Given the description of an element on the screen output the (x, y) to click on. 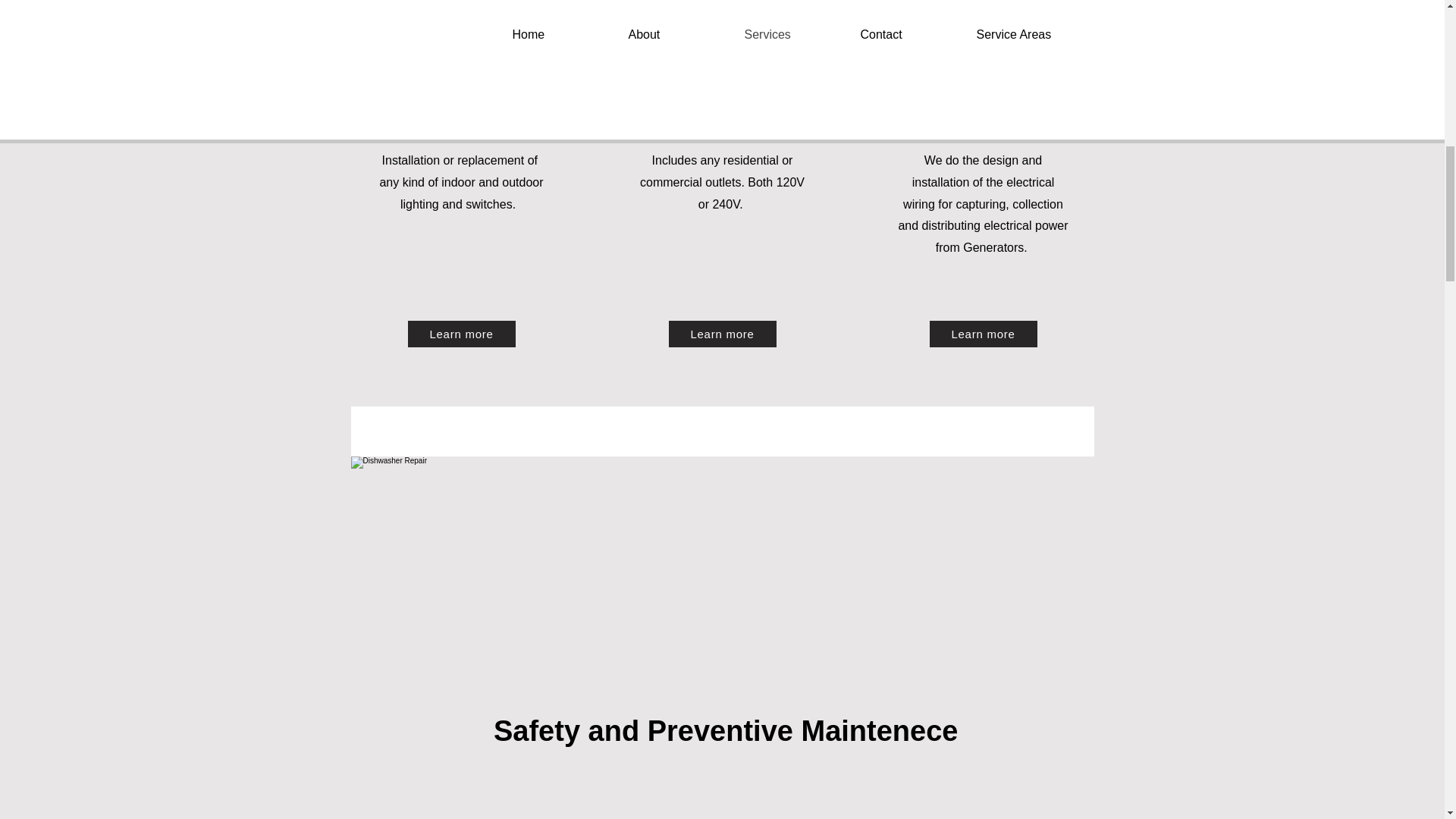
Learn more (722, 334)
Learn more (461, 334)
Learn more (983, 334)
